Given the description of an element on the screen output the (x, y) to click on. 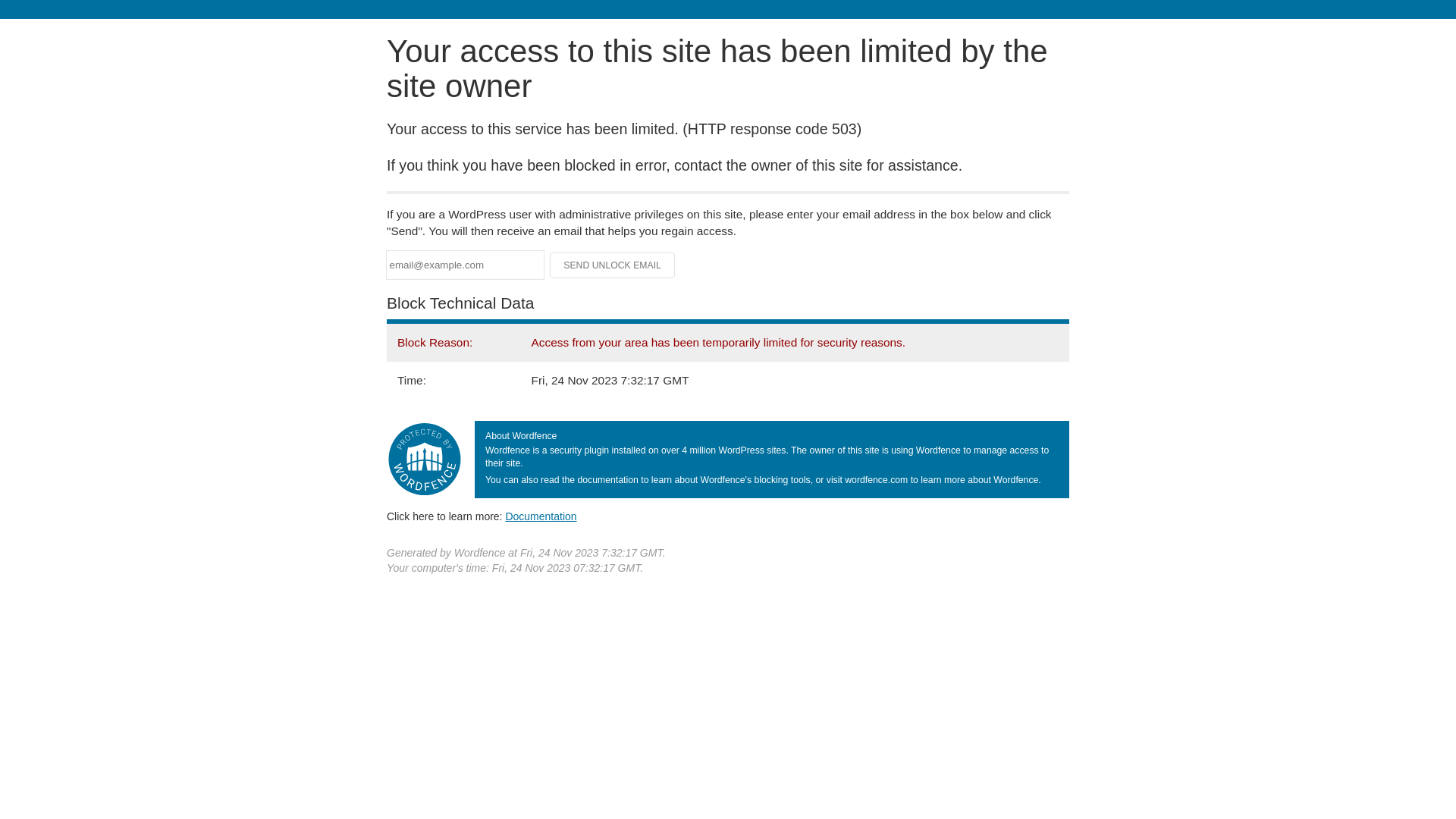
Send Unlock Email Element type: text (612, 265)
Documentation Element type: text (540, 516)
